Given the description of an element on the screen output the (x, y) to click on. 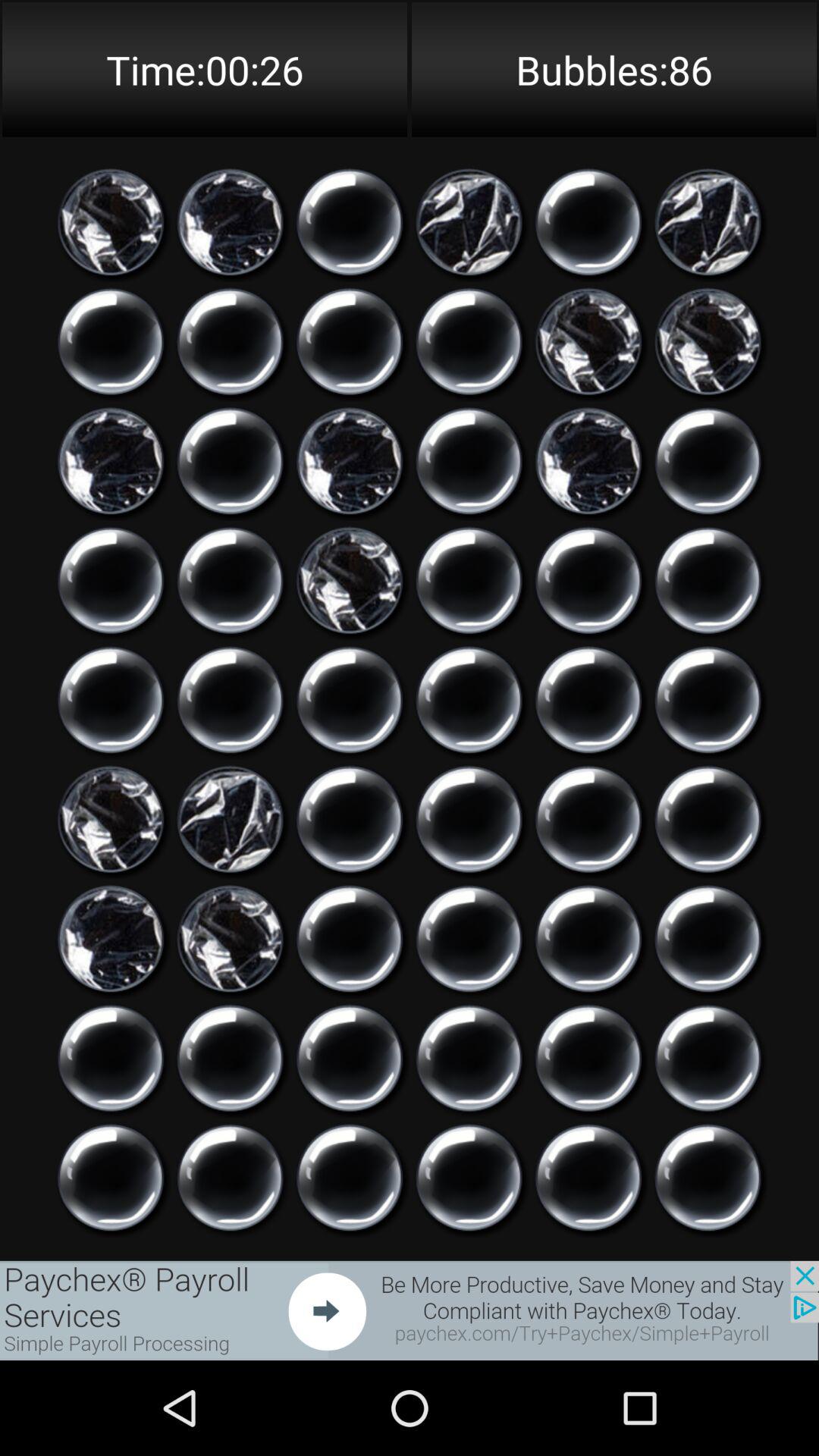
press to burst bubble (588, 938)
